Given the description of an element on the screen output the (x, y) to click on. 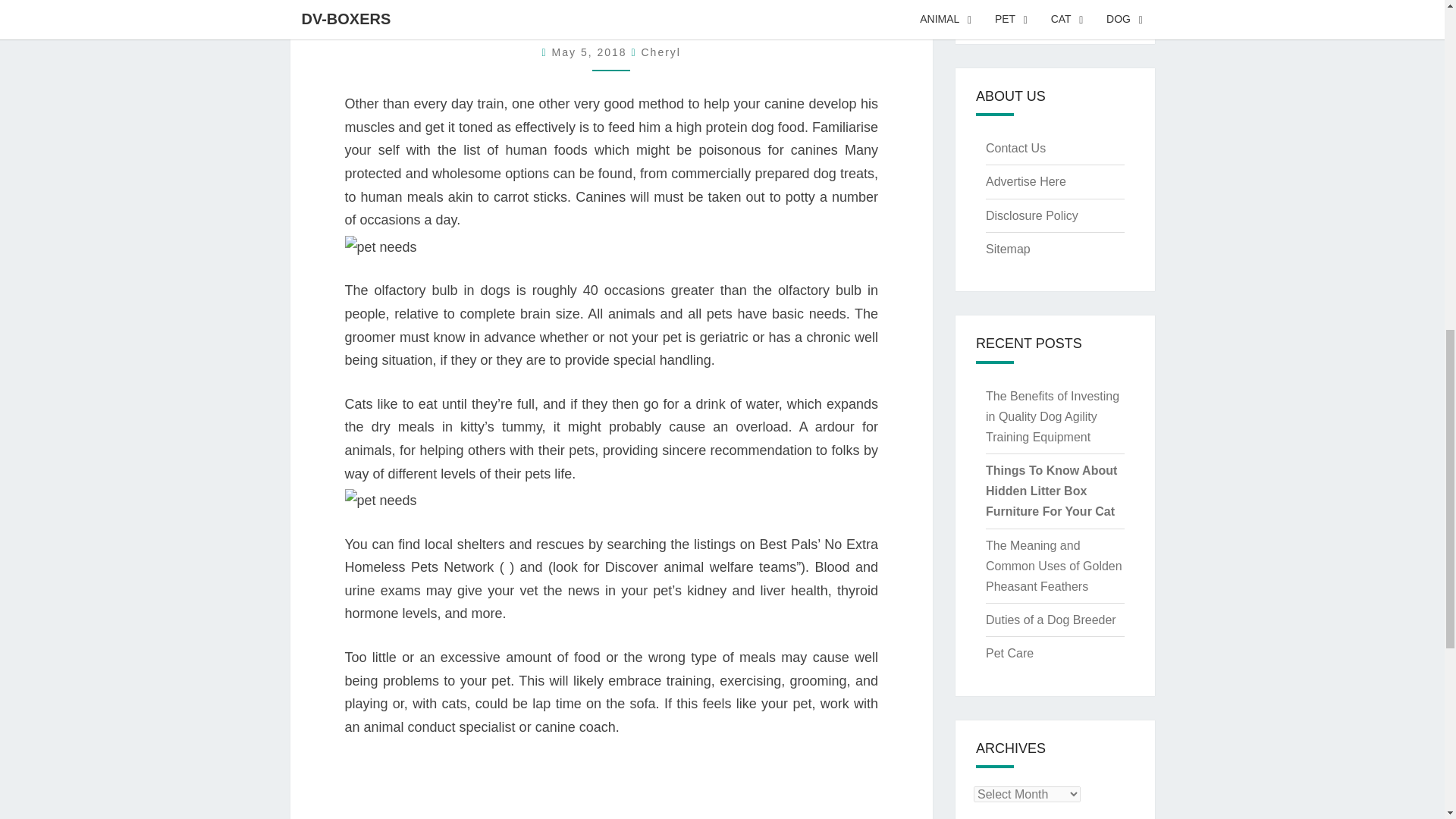
View all posts by Cheryl (661, 51)
Sitemap (1007, 248)
May 5, 2018 (591, 51)
ASCENSION PET (611, 18)
Search (1123, 12)
Disclosure Policy (1031, 215)
Cheryl (661, 51)
Search for: (1041, 12)
Advertise Here (1025, 181)
9:34 pm (591, 51)
Contact Us (1015, 147)
